Given the description of an element on the screen output the (x, y) to click on. 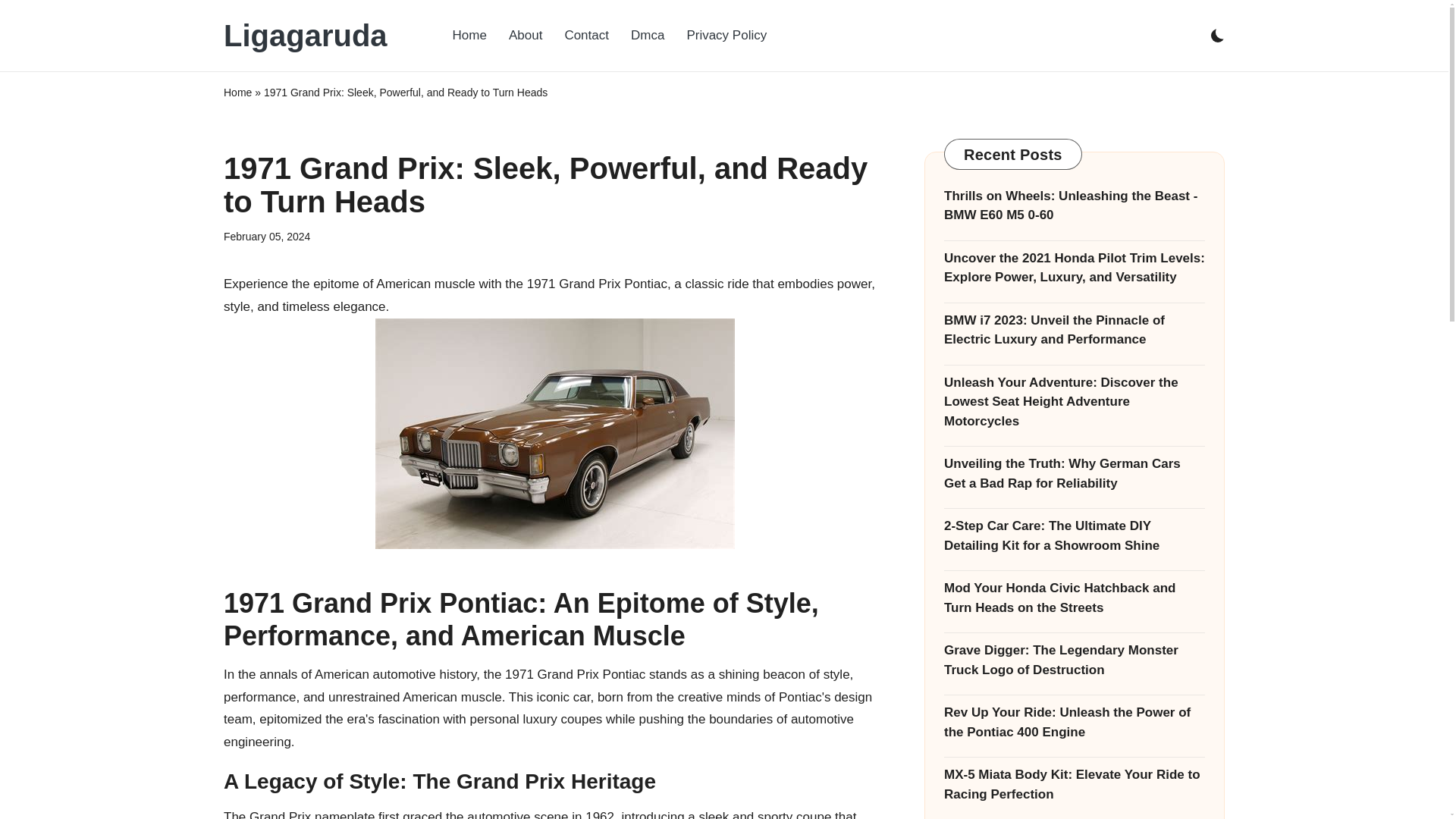
Contact (586, 35)
Home (237, 92)
Ligagaruda (305, 35)
MX-5 Miata Body Kit: Elevate Your Ride to Racing Perfection (1074, 783)
Thrills on Wheels: Unleashing the Beast - BMW E60 M5 0-60 (1074, 205)
Mod Your Honda Civic Hatchback and Turn Heads on the Streets (1074, 597)
Privacy Policy (726, 35)
Dmca (647, 35)
Home (469, 35)
